Given the description of an element on the screen output the (x, y) to click on. 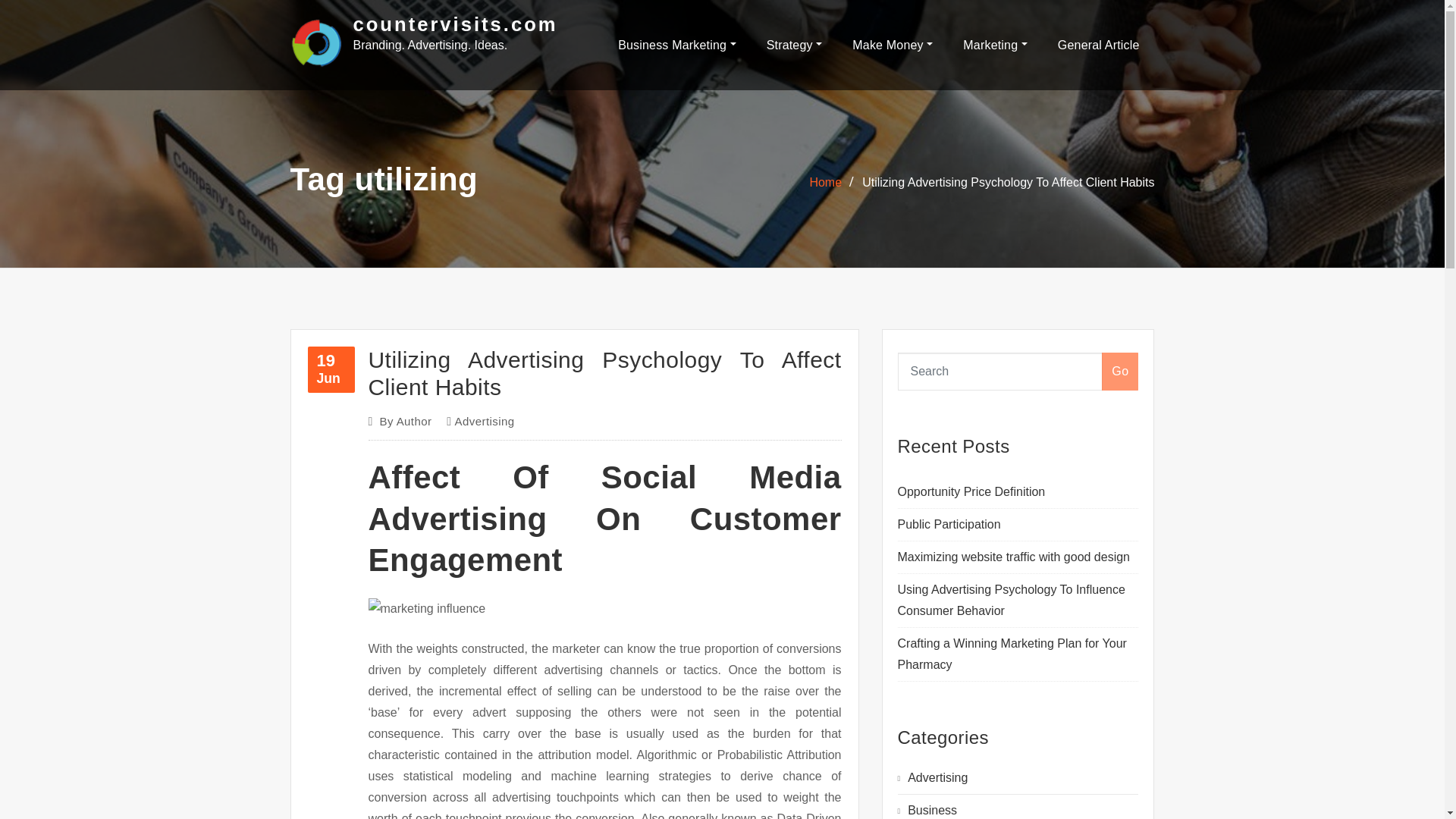
Home (825, 182)
countervisits.com (455, 24)
Marketing (994, 44)
Make Money (892, 44)
Advertising (483, 421)
Utilizing Advertising Psychology To Affect Client Habits (1007, 182)
Utilizing Advertising Psychology To Affect Client Habits (604, 373)
Maximizing website traffic with good design (1014, 556)
By Author (404, 421)
Public Participation (949, 523)
